Given the description of an element on the screen output the (x, y) to click on. 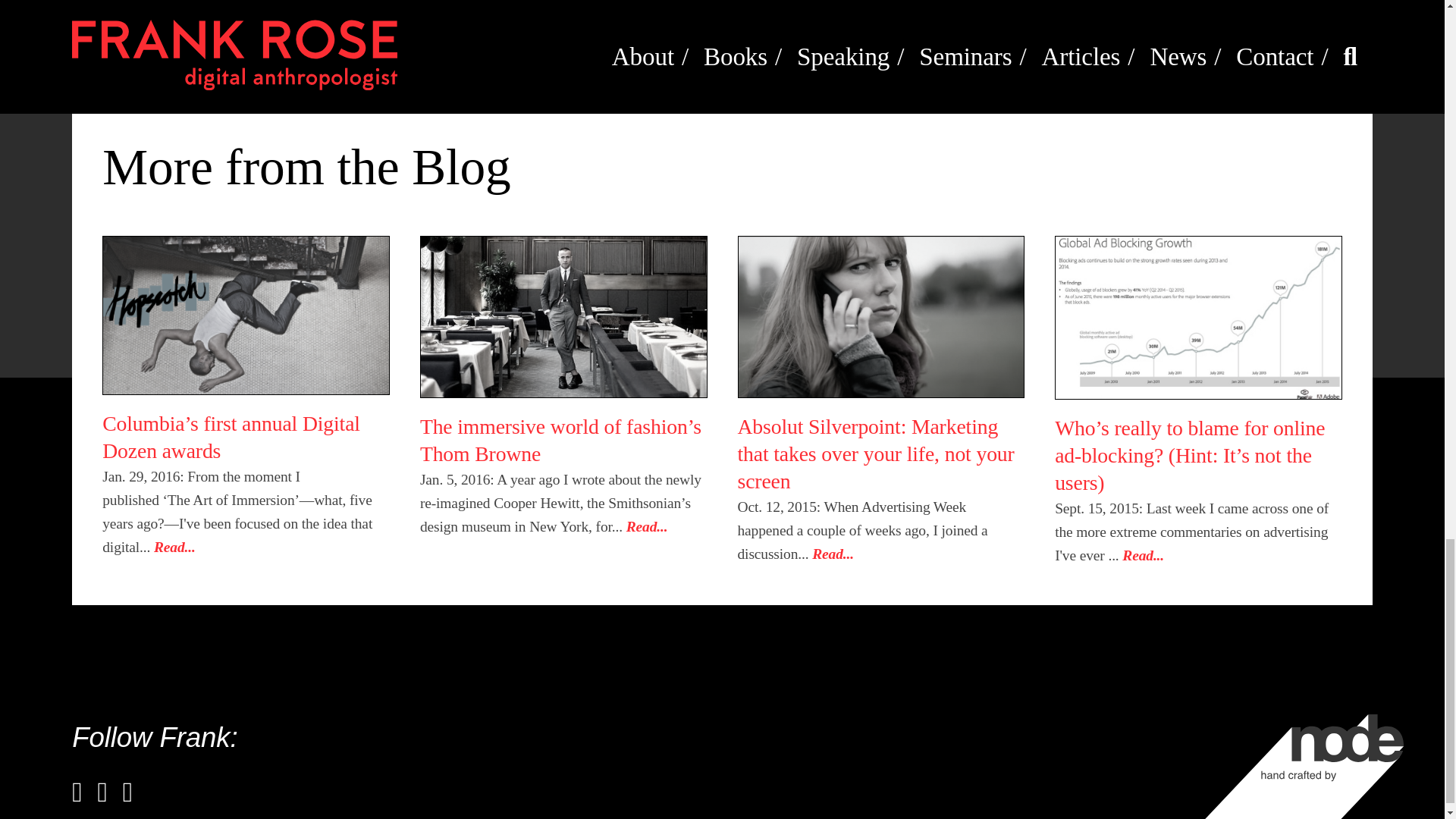
Read... (174, 546)
Read... (647, 526)
